Given the description of an element on the screen output the (x, y) to click on. 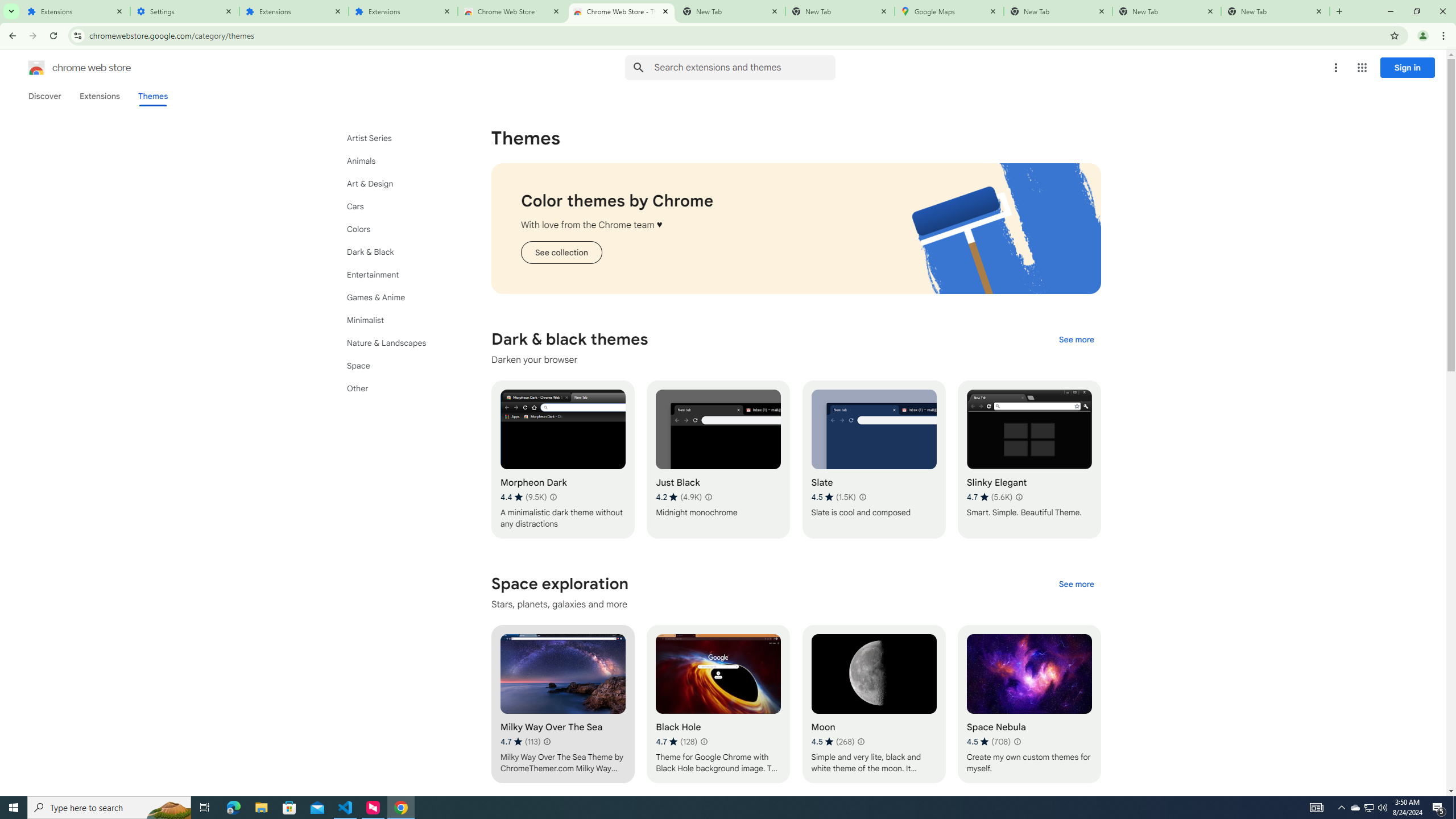
Chrome Web Store - Themes (621, 11)
New Tab (1275, 11)
Learn more about results and reviews "Slate" (862, 496)
Just Black (718, 459)
Artist Series (398, 137)
Average rating 4.5 out of 5 stars. 708 ratings. (988, 741)
Google Maps (949, 11)
Learn more about results and reviews "Black Hole" (703, 741)
Average rating 4.7 out of 5 stars. 5.6K ratings. (988, 496)
Slate (873, 459)
